Given the description of an element on the screen output the (x, y) to click on. 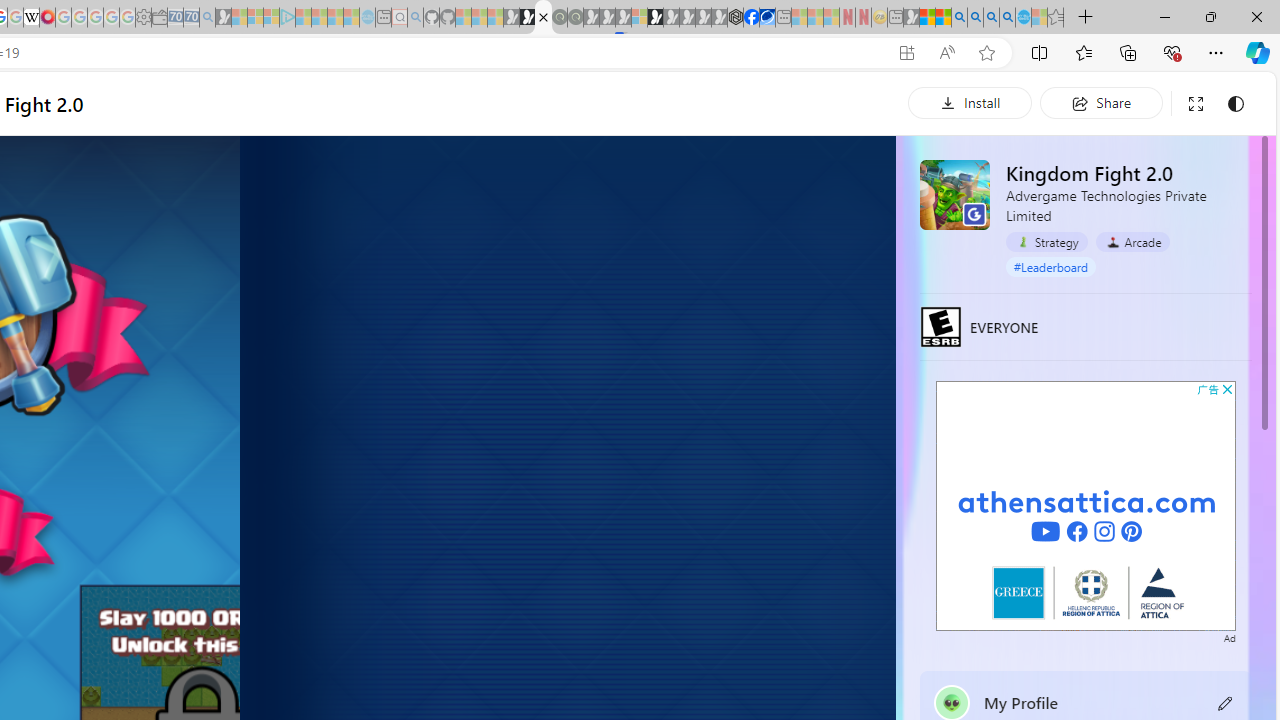
MSN - Sleeping (911, 17)
Cheap Car Rentals - Save70.com - Sleeping (191, 17)
Target page - Wikipedia (31, 17)
Kingdom Fight 2.0 (954, 194)
Play Zoo Boom in your browser | Games from Microsoft Start (527, 17)
Arcade (1132, 241)
Share (1101, 102)
Favorites - Sleeping (1055, 17)
